Given the description of an element on the screen output the (x, y) to click on. 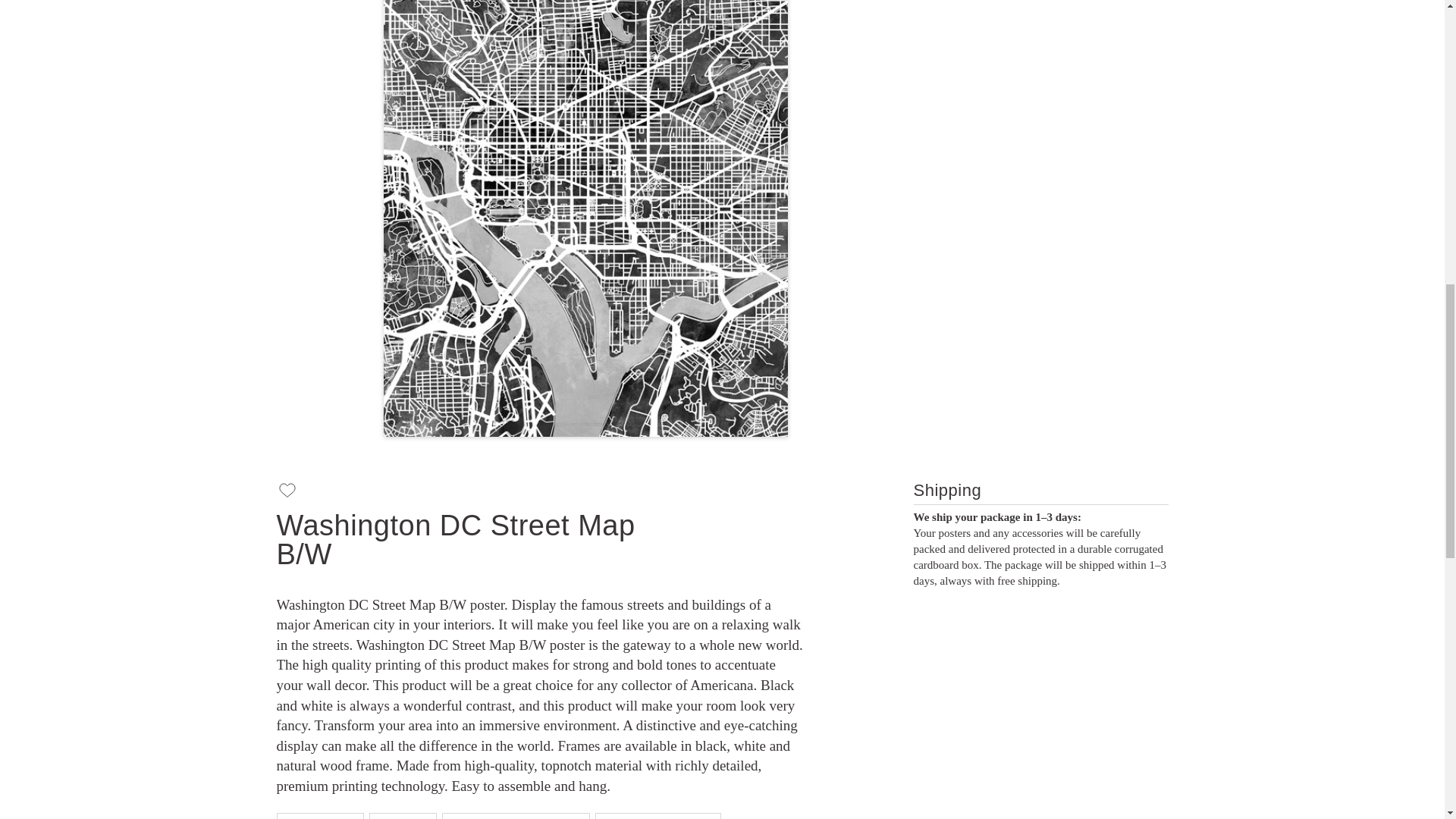
City Maps (402, 816)
Maps Of American Cities (515, 816)
Add To Favorites (291, 491)
Maps Of Washington (658, 816)
